Given the description of an element on the screen output the (x, y) to click on. 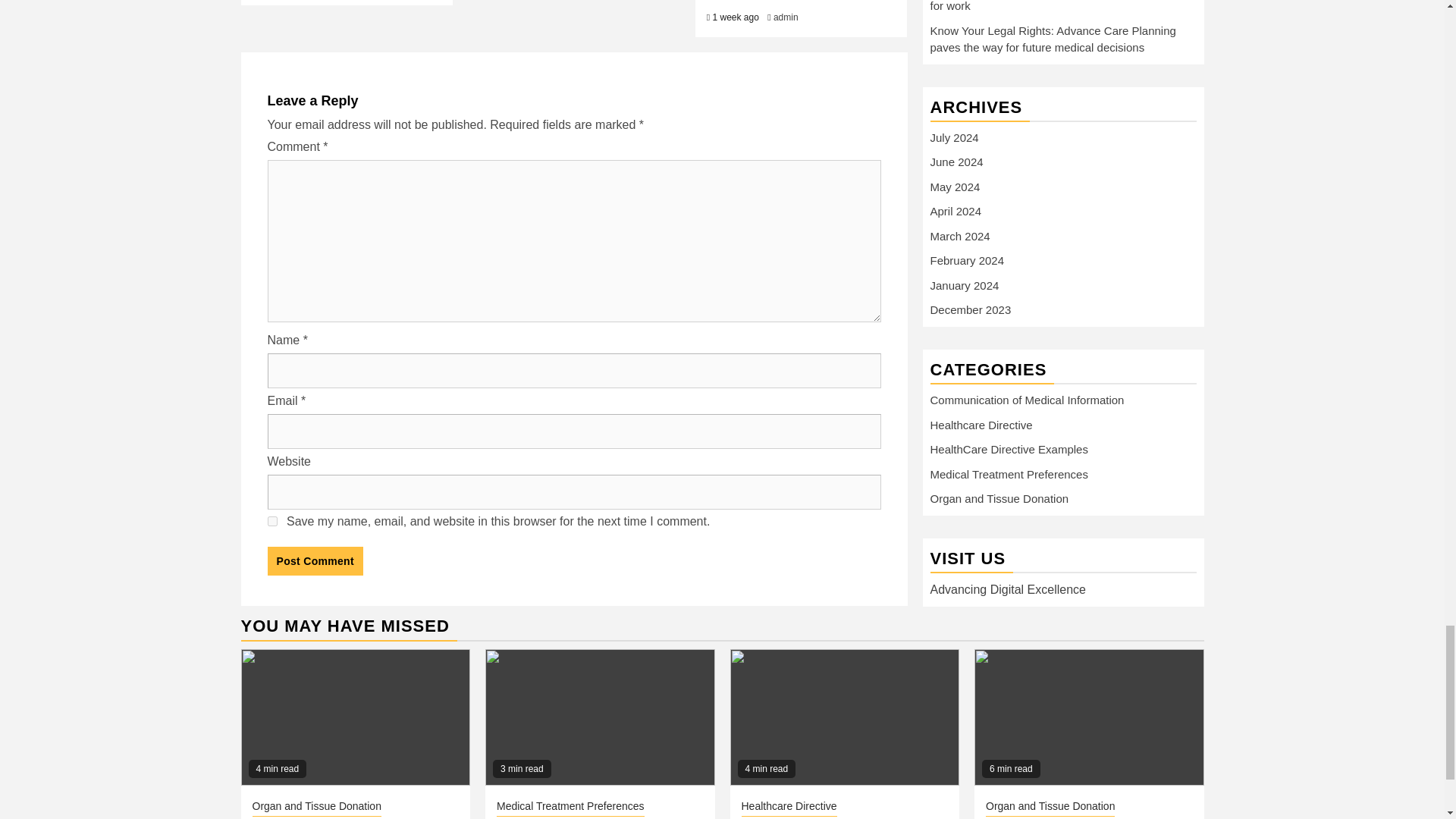
Post Comment (314, 561)
yes (271, 521)
